Given the description of an element on the screen output the (x, y) to click on. 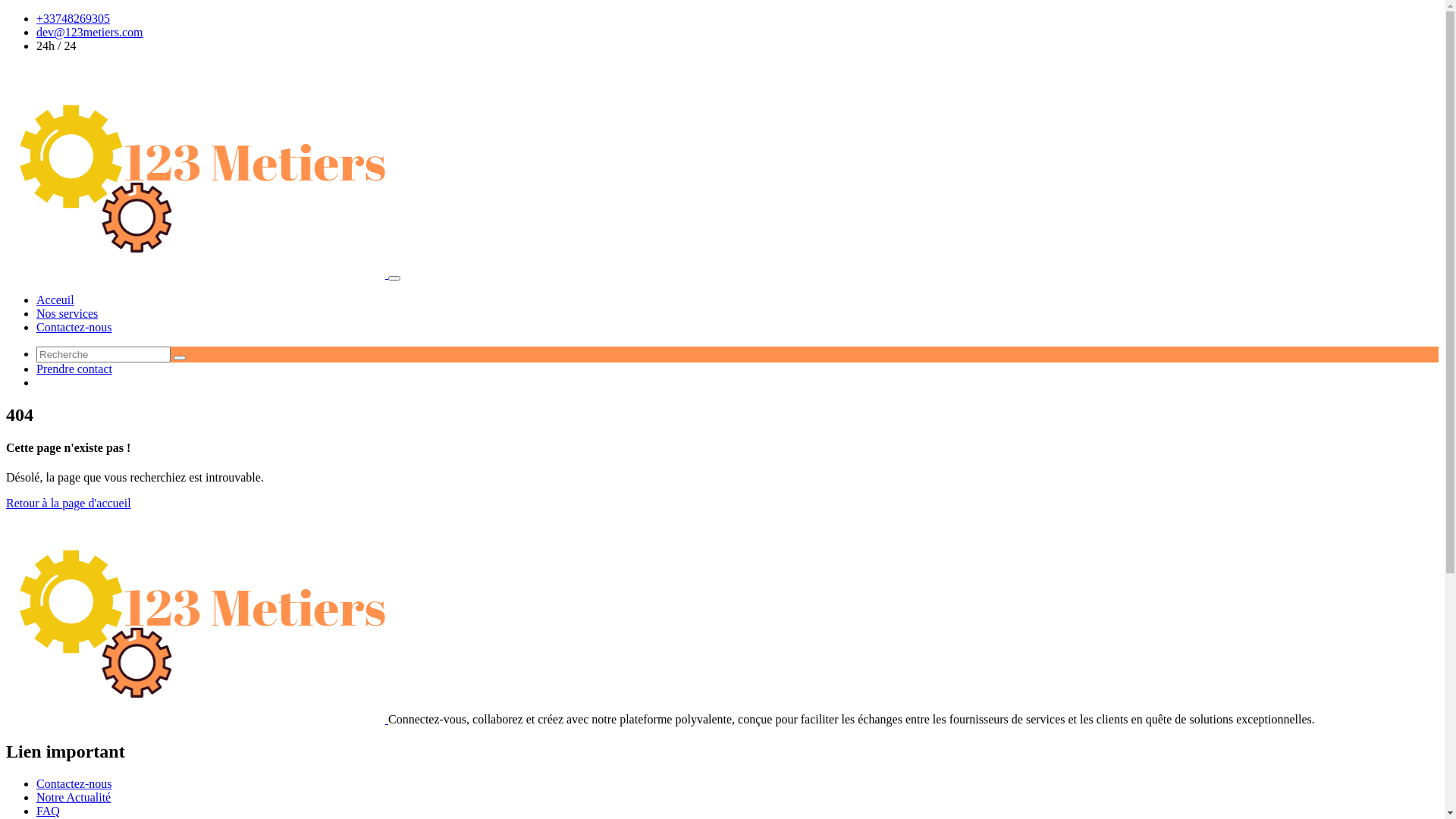
dev@123metiers.com Element type: text (89, 31)
Contactez-nous Element type: text (74, 326)
Contactez-nous Element type: text (74, 783)
FAQ Element type: text (47, 810)
+33748269305 Element type: text (72, 18)
Nos services Element type: text (66, 313)
Acceuil Element type: text (55, 299)
Prendre contact Element type: text (74, 368)
